Given the description of an element on the screen output the (x, y) to click on. 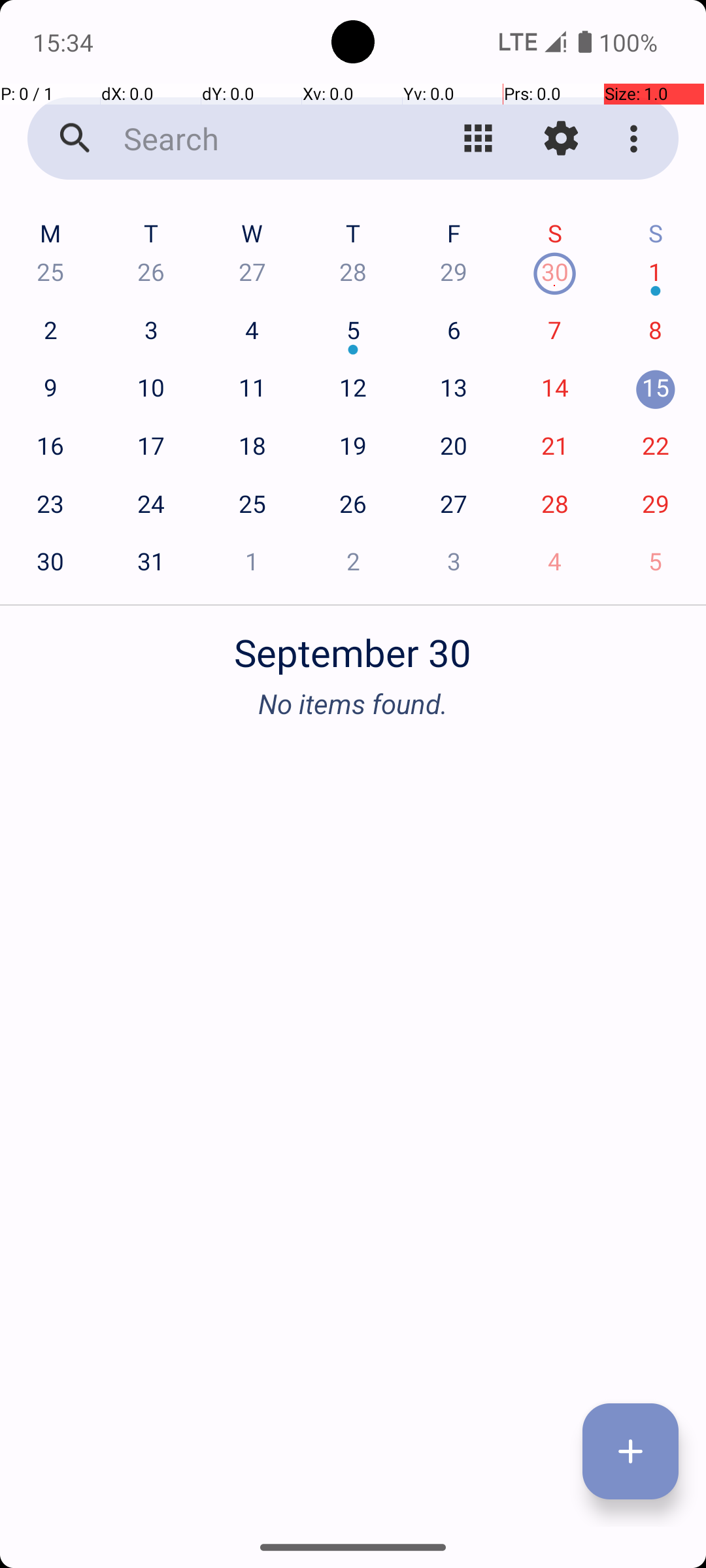
September 30 Element type: android.widget.TextView (352, 644)
